Given the description of an element on the screen output the (x, y) to click on. 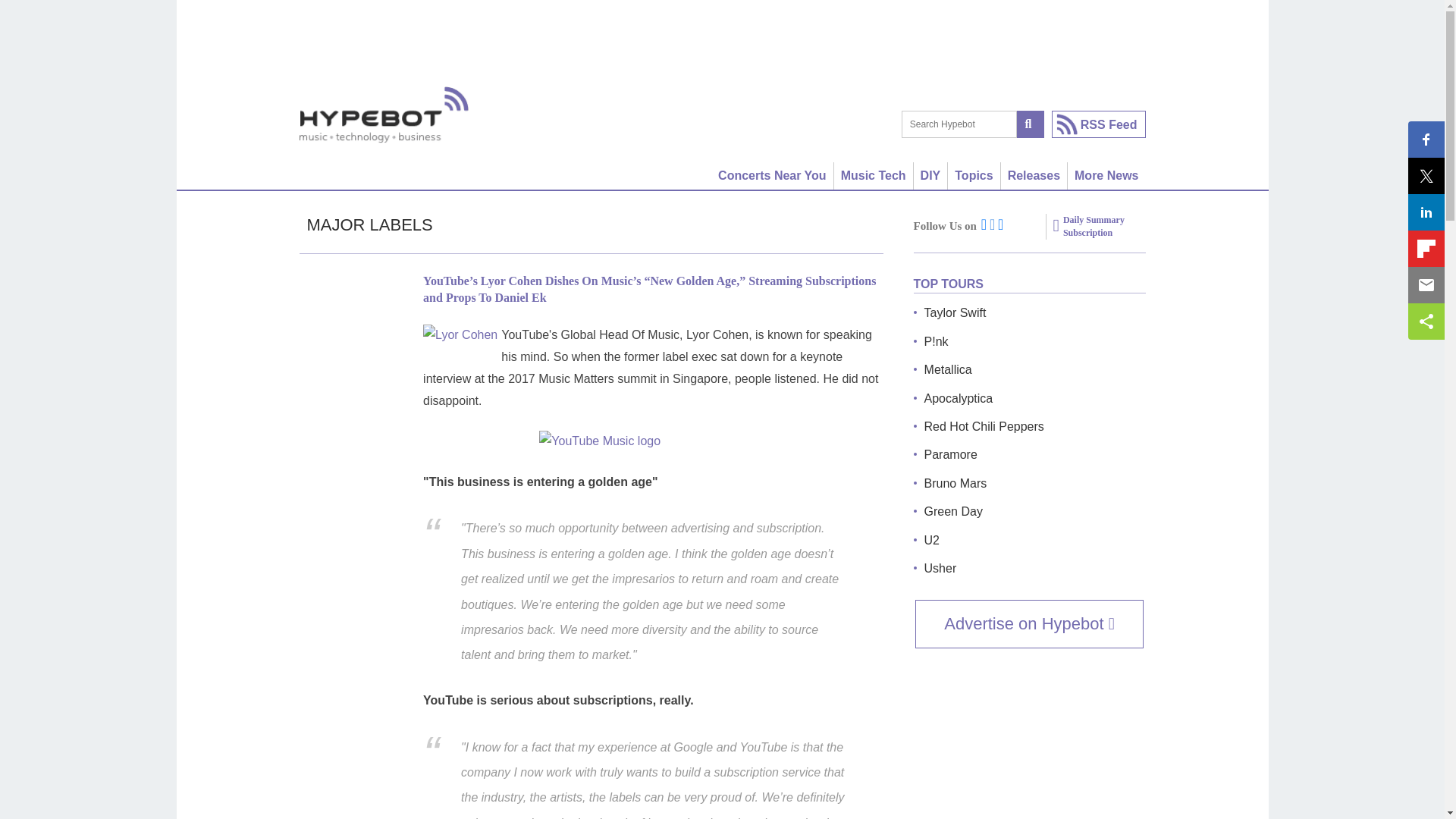
YouTube Music logo (652, 441)
Concerts Near You (772, 175)
RSS Feed (1098, 124)
DIY (931, 175)
Music Tech (874, 175)
View all posts in Major Labels (368, 224)
Lyor Cohen (460, 335)
Topics (973, 175)
